Given the description of an element on the screen output the (x, y) to click on. 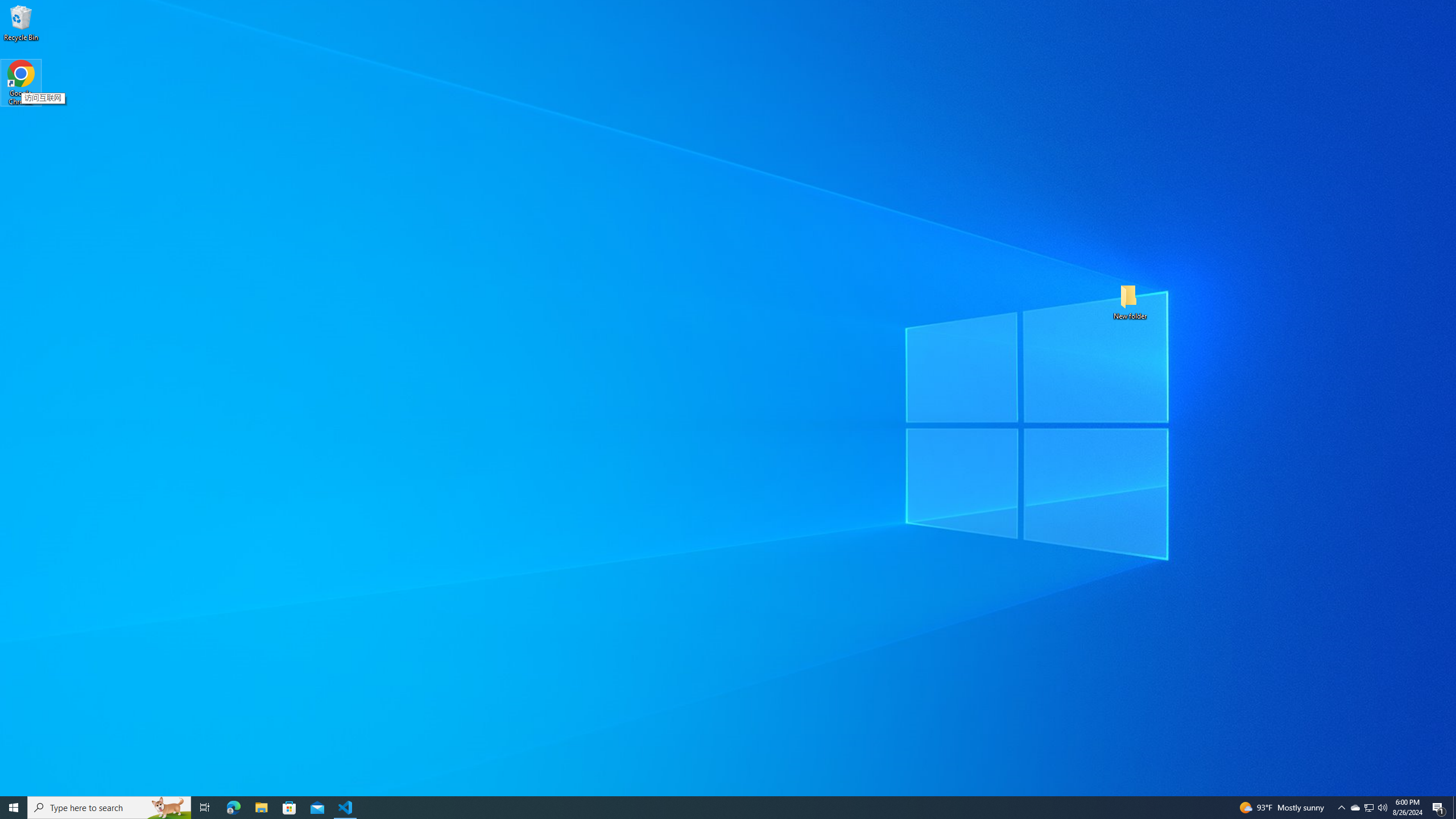
New folder (1130, 301)
Recycle Bin (21, 22)
Google Chrome (21, 82)
